Given the description of an element on the screen output the (x, y) to click on. 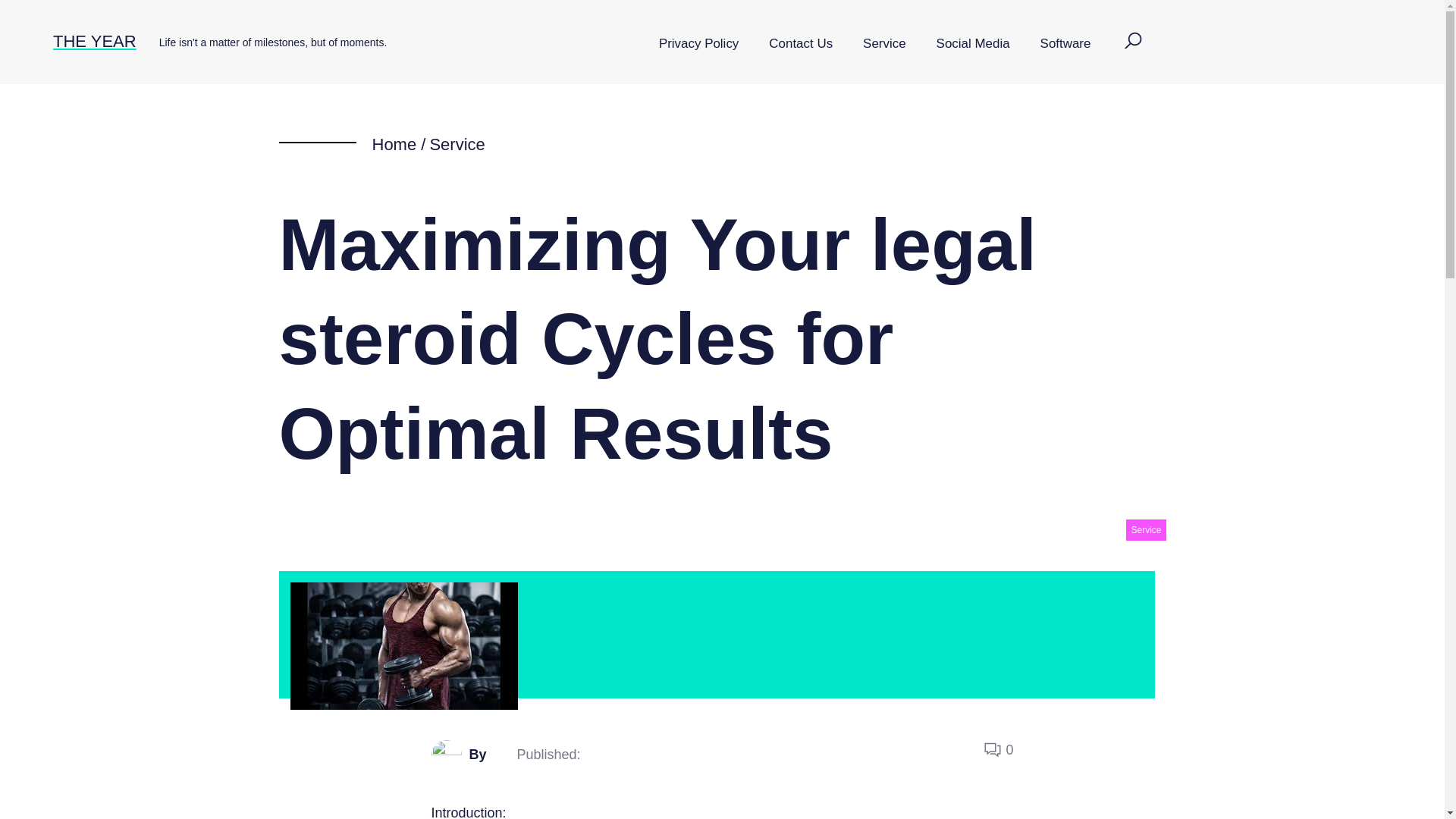
Contact Us (800, 43)
Software (1065, 43)
Service (1145, 529)
Privacy Policy (698, 43)
Service (456, 144)
Social Media (973, 43)
Service (883, 43)
Home (393, 144)
THE YEAR (94, 40)
